Given the description of an element on the screen output the (x, y) to click on. 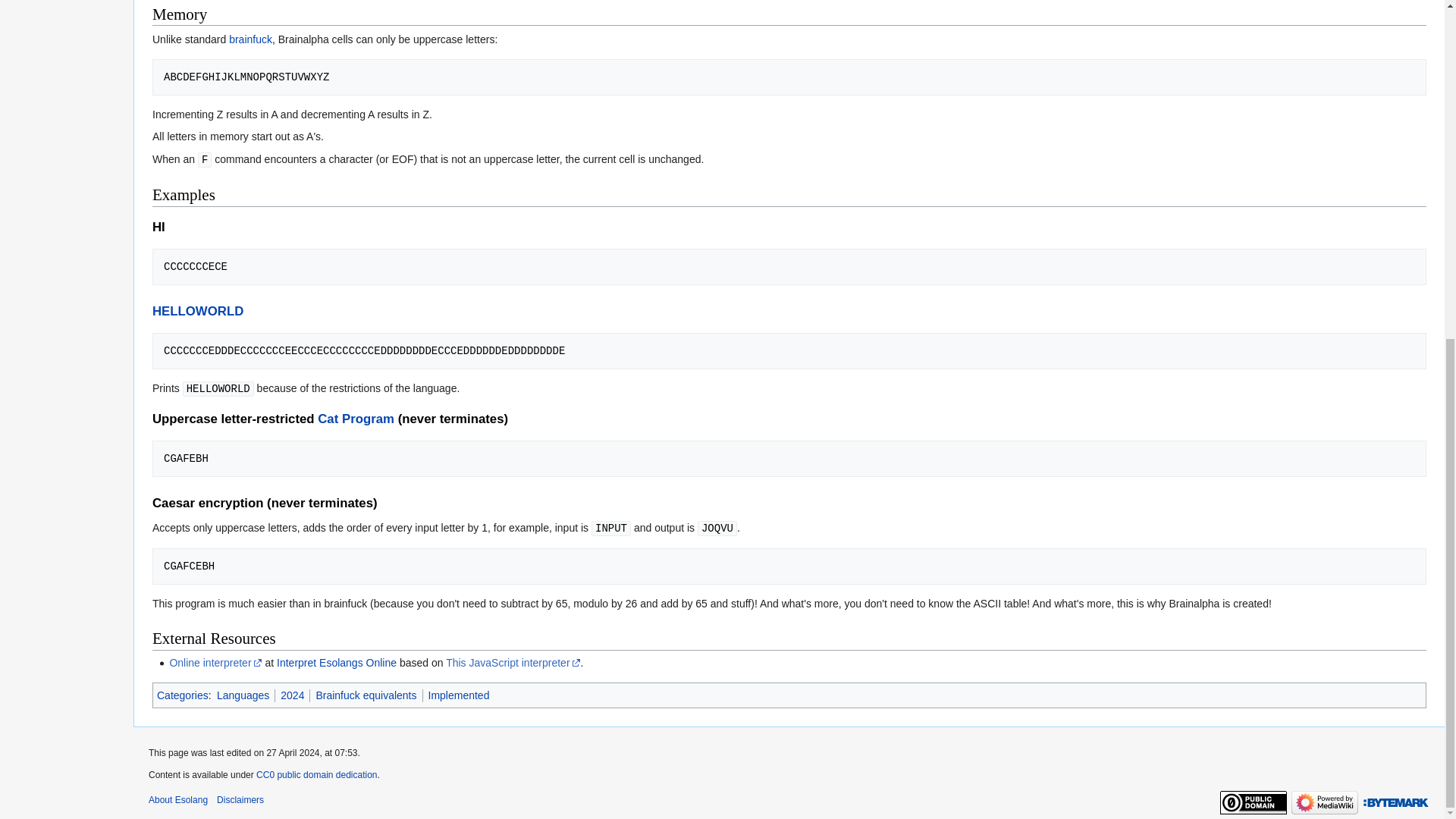
Brainfuck (250, 39)
Interpret Esolangs Online (336, 662)
Interpret Esolangs Online (336, 662)
This JavaScript interpreter (512, 662)
Categories (182, 695)
Online interpreter (215, 662)
Hello World (197, 310)
Cat Program (355, 418)
Cat Program (355, 418)
Category:Brainfuck equivalents (365, 695)
brainfuck (250, 39)
2024 (292, 695)
HELLOWORLD (197, 310)
Category:2024 (292, 695)
Special:Categories (182, 695)
